Given the description of an element on the screen output the (x, y) to click on. 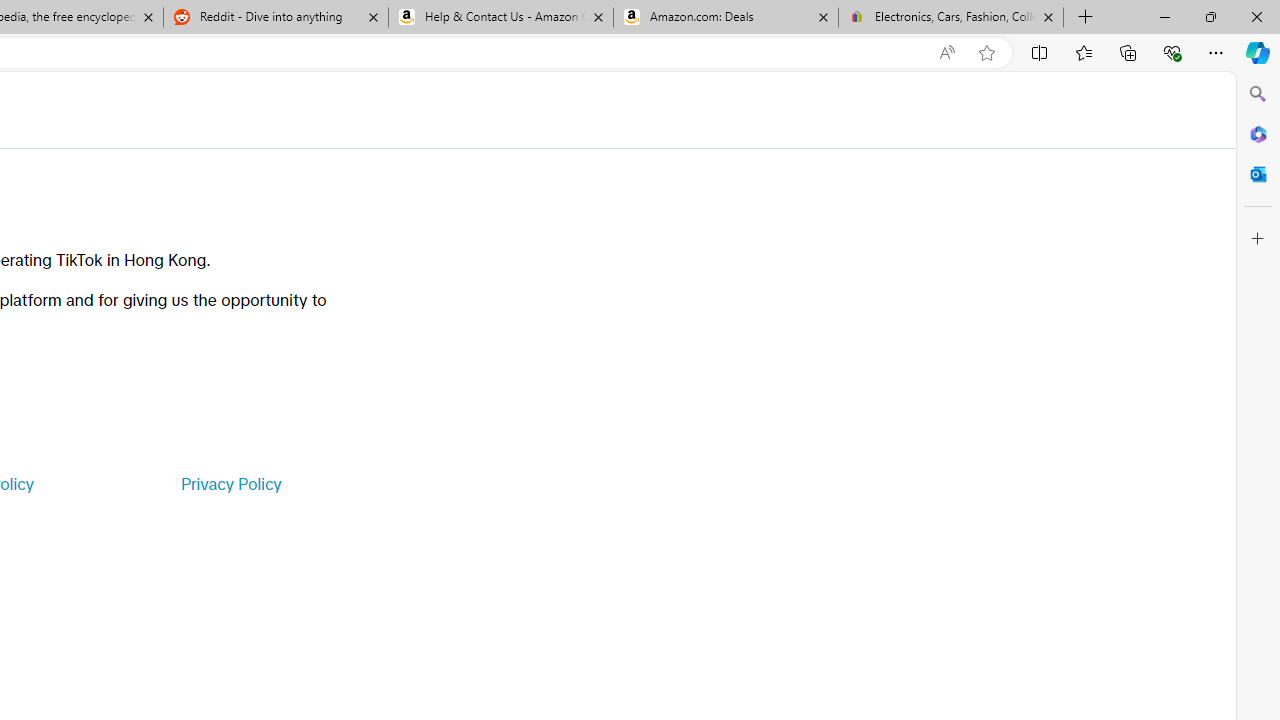
Help & Contact Us - Amazon Customer Service (501, 17)
Privacy Policy (230, 484)
Add this page to favorites (Ctrl+D) (986, 53)
Favorites (1083, 52)
Read aloud this page (Ctrl+Shift+U) (946, 53)
Search (1258, 94)
Microsoft 365 (1258, 133)
Amazon.com: Deals (726, 17)
